Given the description of an element on the screen output the (x, y) to click on. 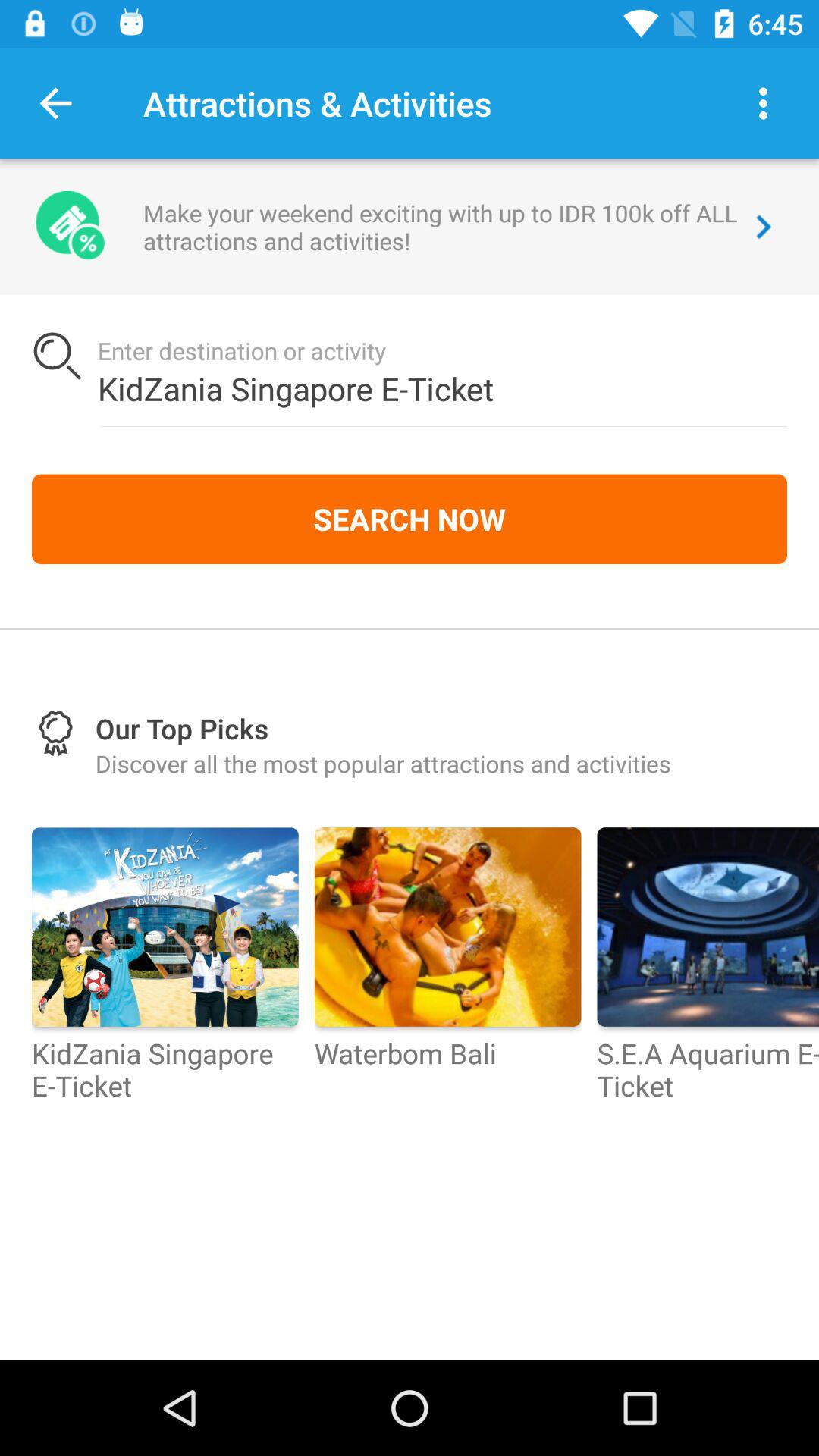
overflow menu (763, 103)
